Given the description of an element on the screen output the (x, y) to click on. 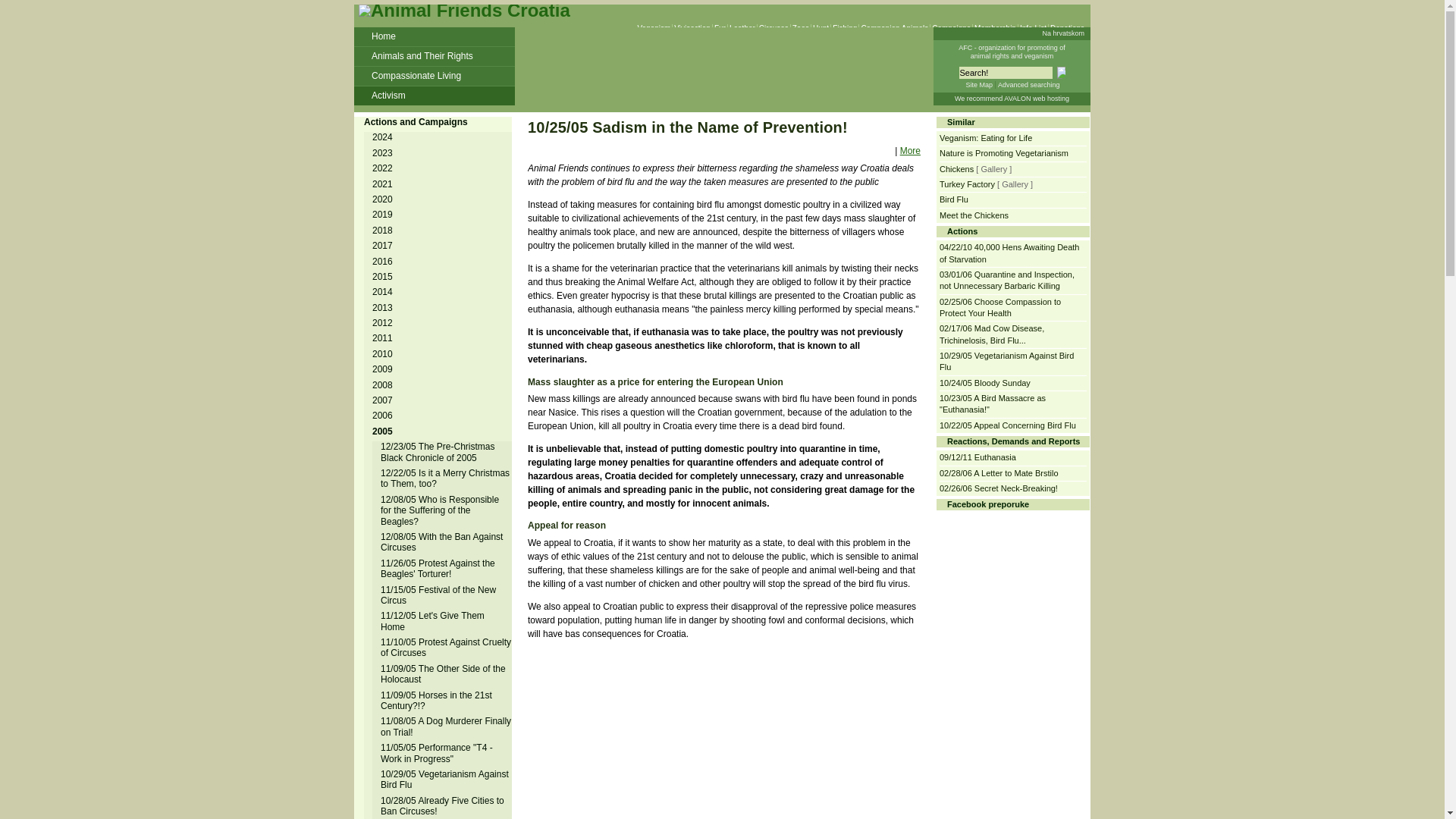
Animals and Their Rights (434, 56)
Activism (434, 95)
Site Map (978, 84)
Companion Animals (894, 28)
Veganism (653, 28)
2015 (383, 276)
Zoos (800, 28)
2018 (383, 230)
About AFC (1011, 51)
2013 (383, 307)
